Given the description of an element on the screen output the (x, y) to click on. 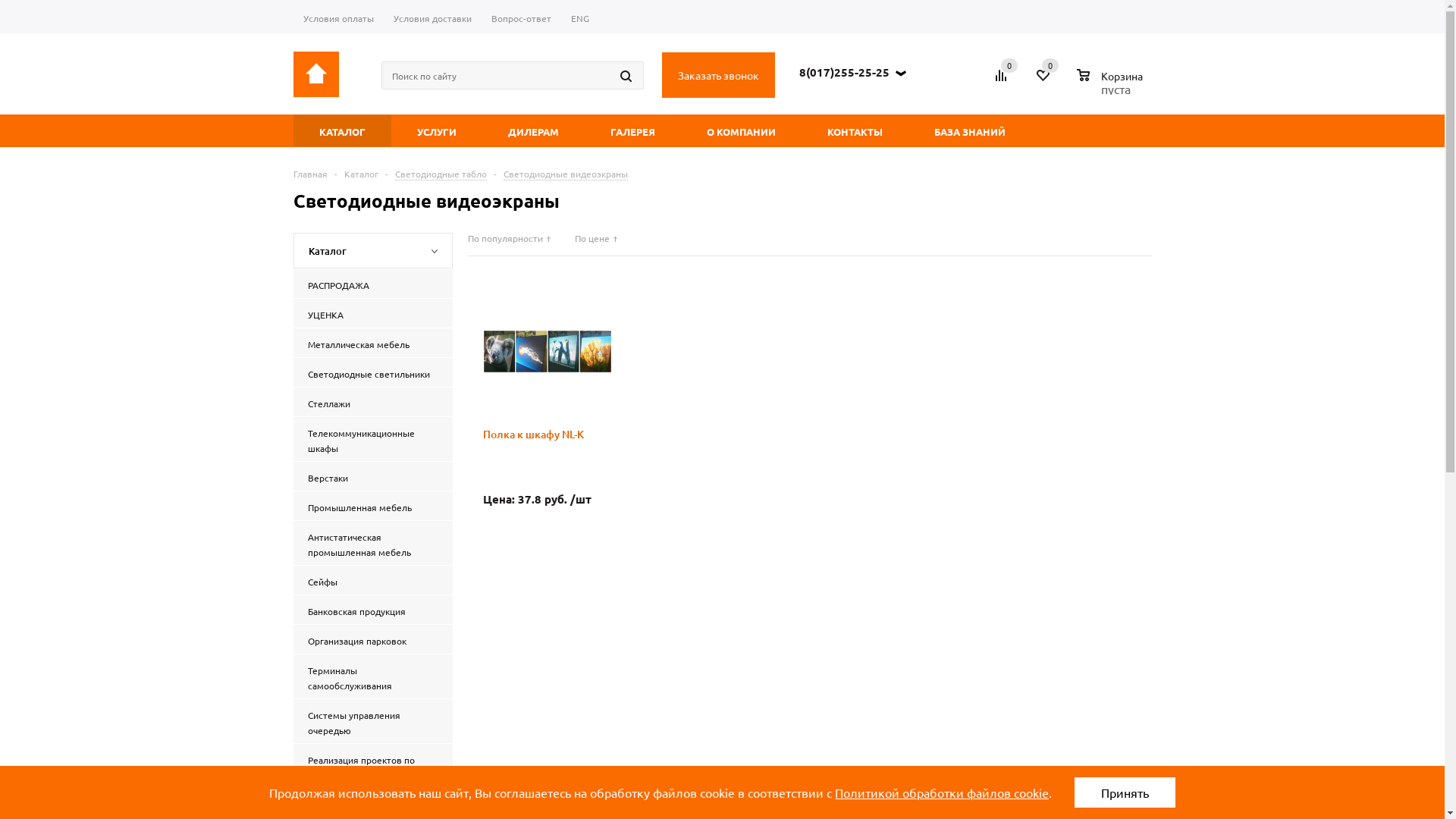
0 Element type: text (1009, 65)
ENG Element type: text (580, 19)
8(017)255-25-25 Element type: text (844, 70)
